Given the description of an element on the screen output the (x, y) to click on. 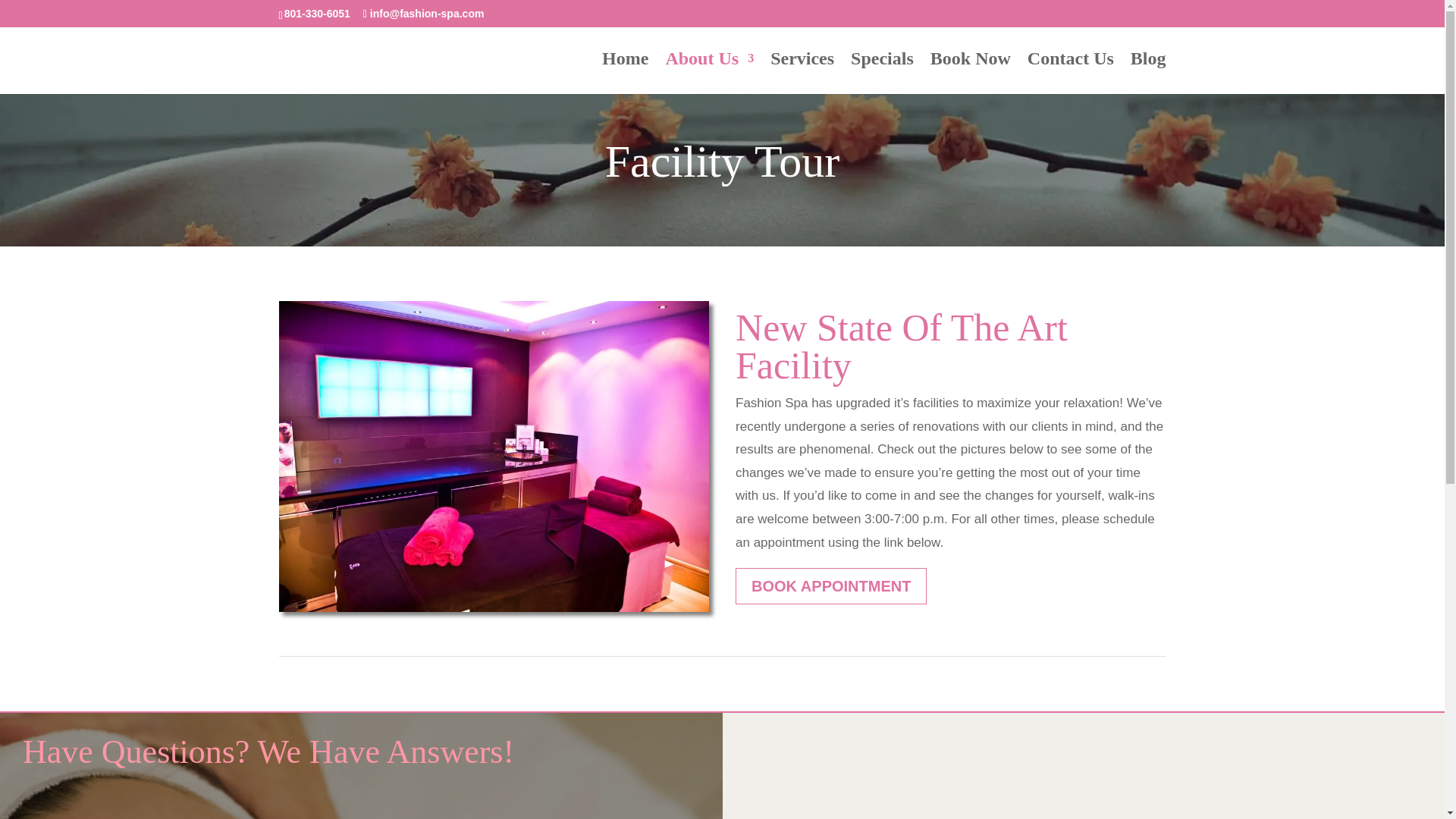
Contact Us (1070, 73)
Book Now (970, 73)
Home (624, 73)
About Us (709, 73)
Specials (882, 73)
BOOK APPOINTMENT (830, 586)
Services (802, 73)
